Given the description of an element on the screen output the (x, y) to click on. 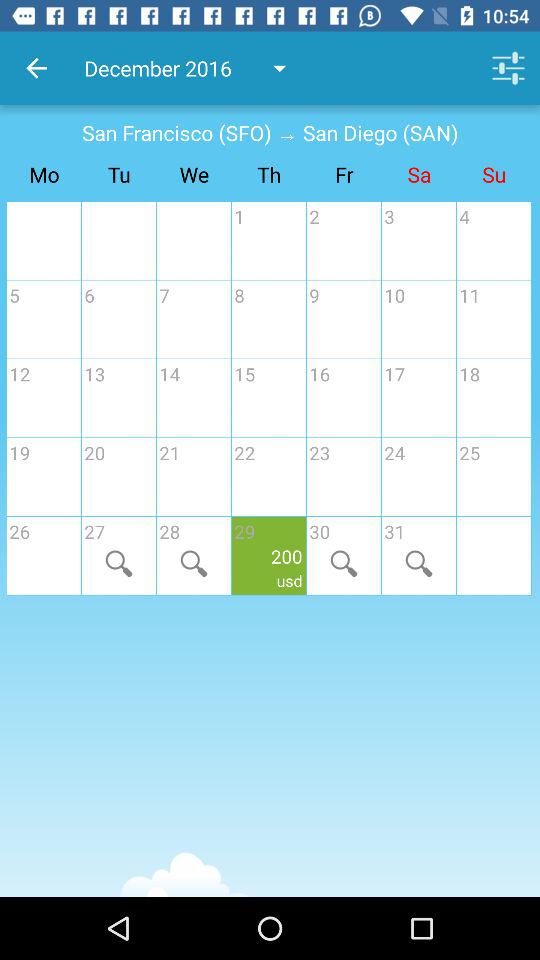
select the item above san francisco sfo (36, 68)
